Given the description of an element on the screen output the (x, y) to click on. 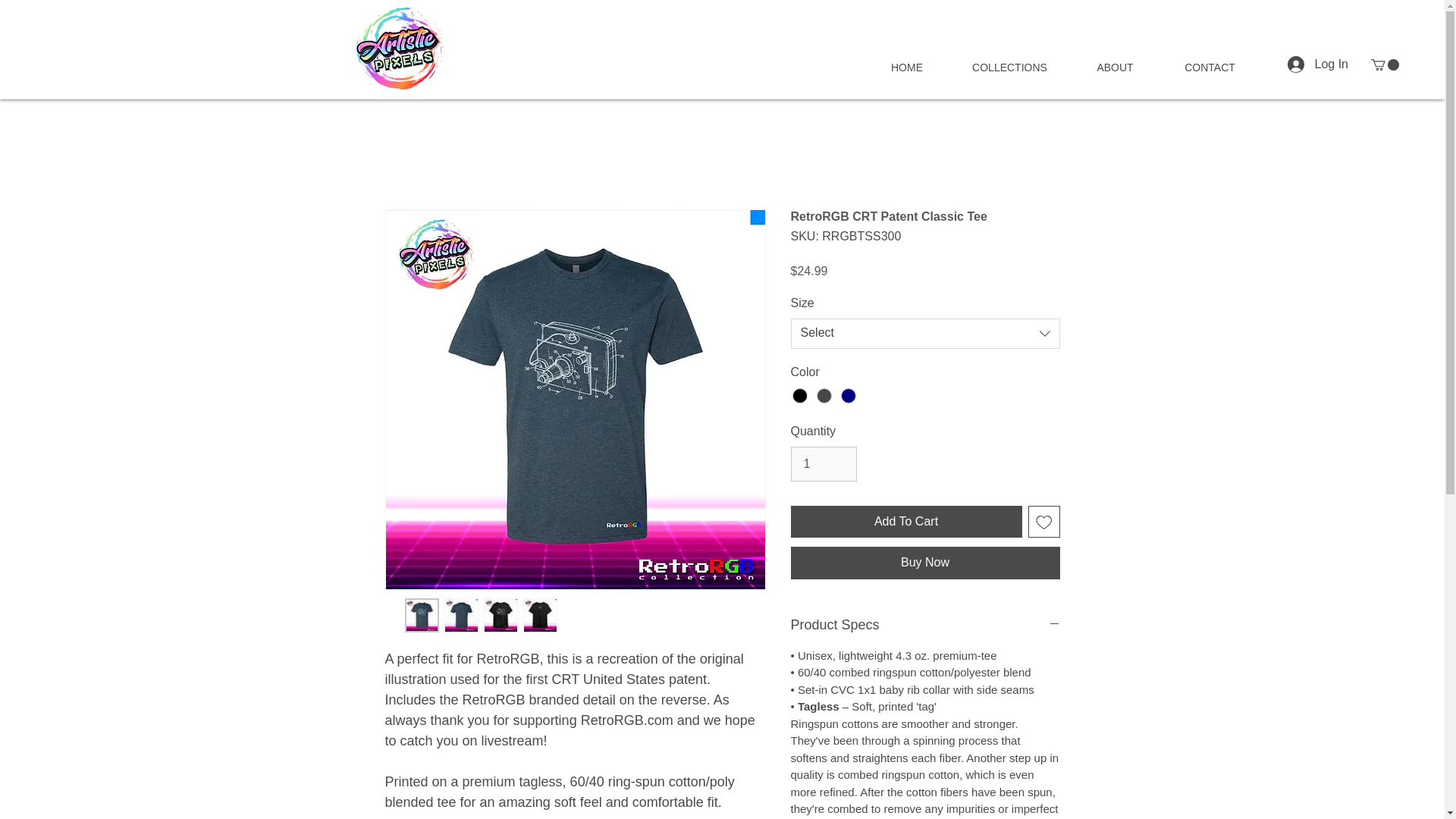
Add To Cart (906, 521)
Select (924, 333)
CONTACT (1209, 67)
Log In (1317, 63)
COLLECTIONS (1009, 67)
HOME (906, 67)
1 (823, 463)
ABOUT (1114, 67)
Buy Now (924, 562)
Product Specs (924, 624)
